Given the description of an element on the screen output the (x, y) to click on. 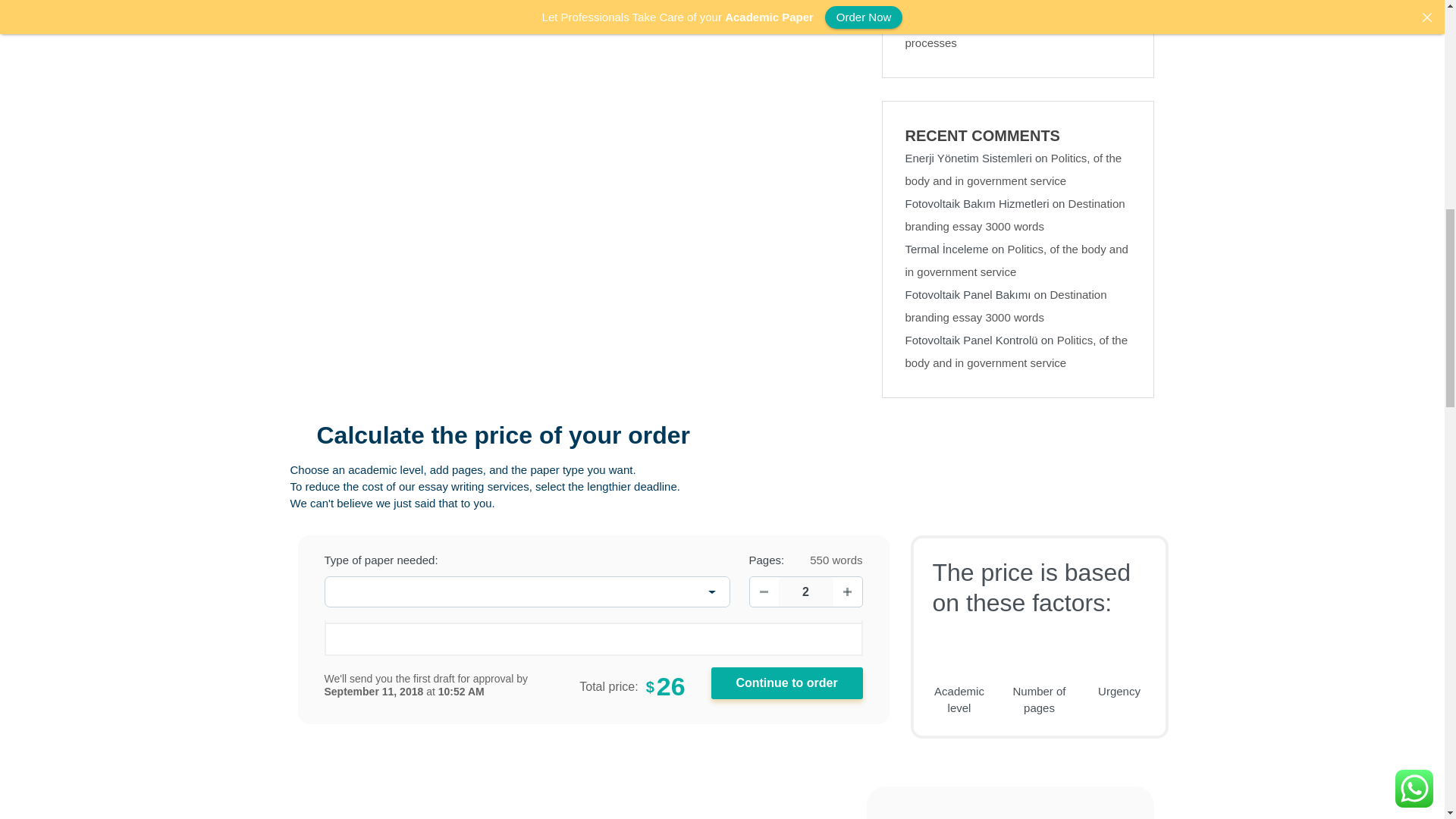
Continue to order (787, 683)
Politics, of the body and in government service (1013, 169)
Continue to order (787, 683)
Continue to Order (787, 683)
2 (804, 591)
Decrease (763, 592)
Politics, of the body and in government service (1016, 351)
Increase (846, 592)
Politics, of the body and in government service (1016, 260)
Destination branding essay 3000 words (1005, 305)
Destination branding essay 3000 words (1015, 214)
